Given the description of an element on the screen output the (x, y) to click on. 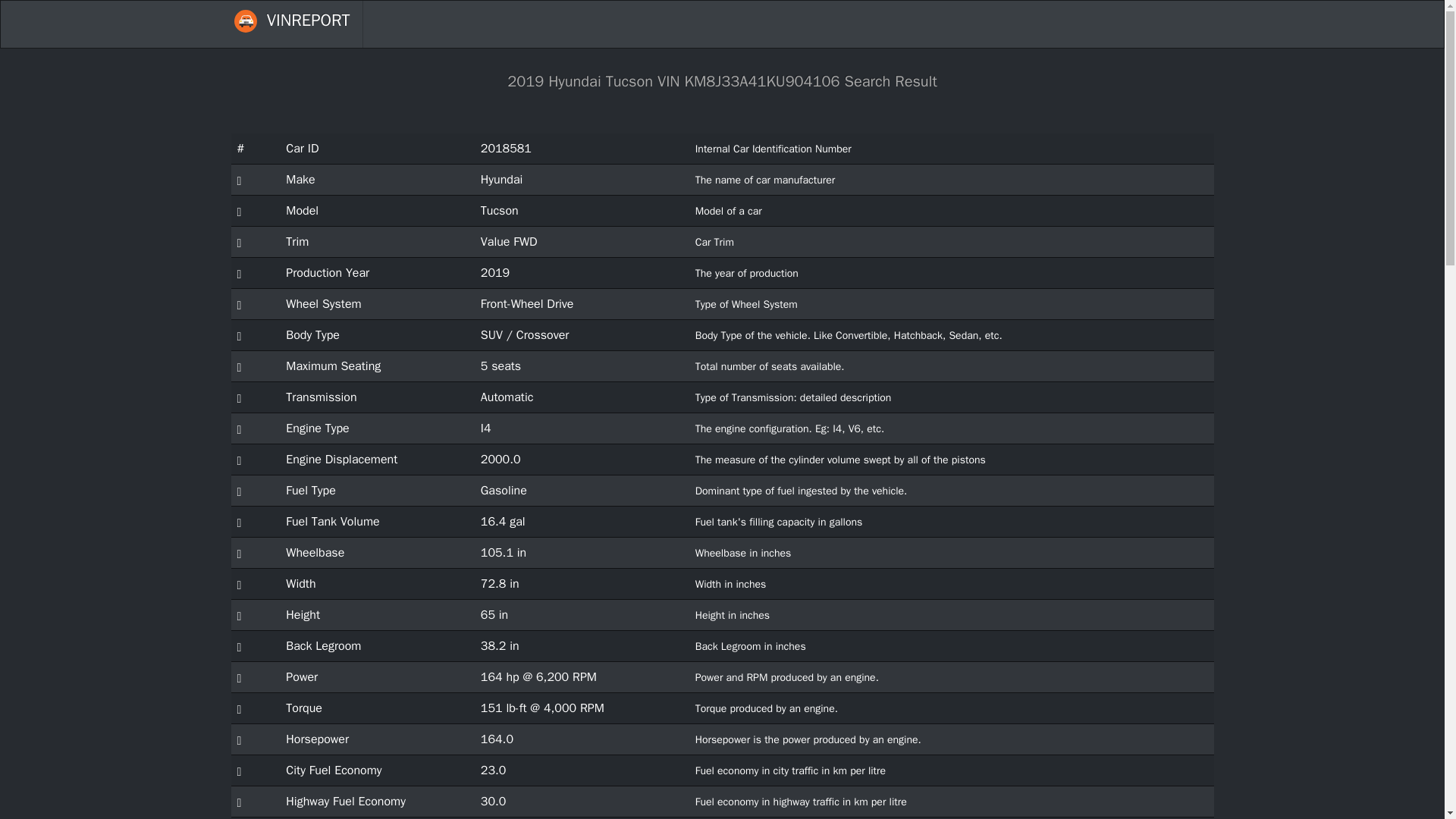
VinReport.ME (291, 23)
VinReport.me (244, 20)
  VINREPORT (291, 23)
